Given the description of an element on the screen output the (x, y) to click on. 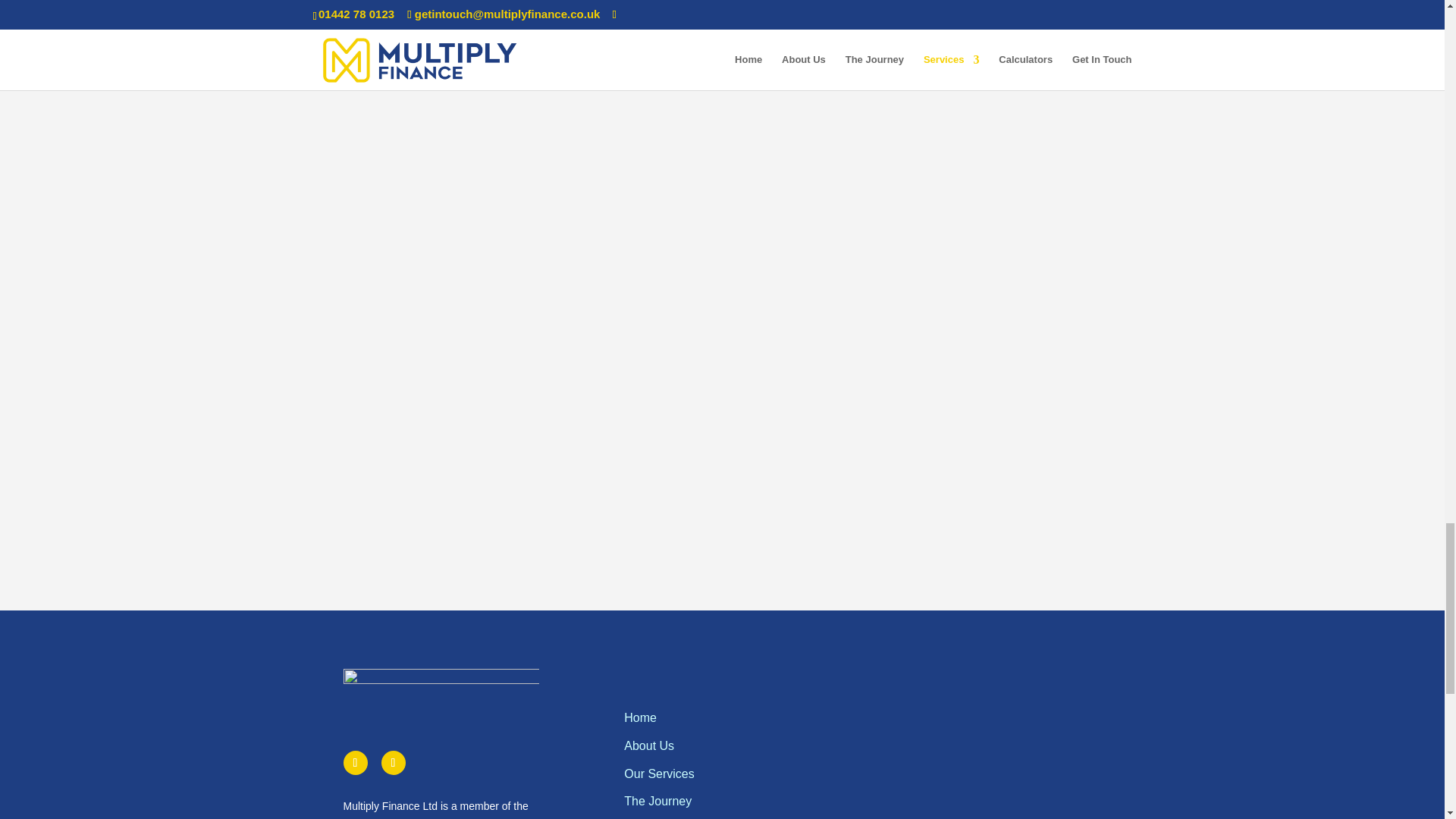
Follow on LinkedIn (392, 762)
Follow on X (354, 762)
Multiply Finance Master Logo - Reverse RGB (440, 691)
